Given the description of an element on the screen output the (x, y) to click on. 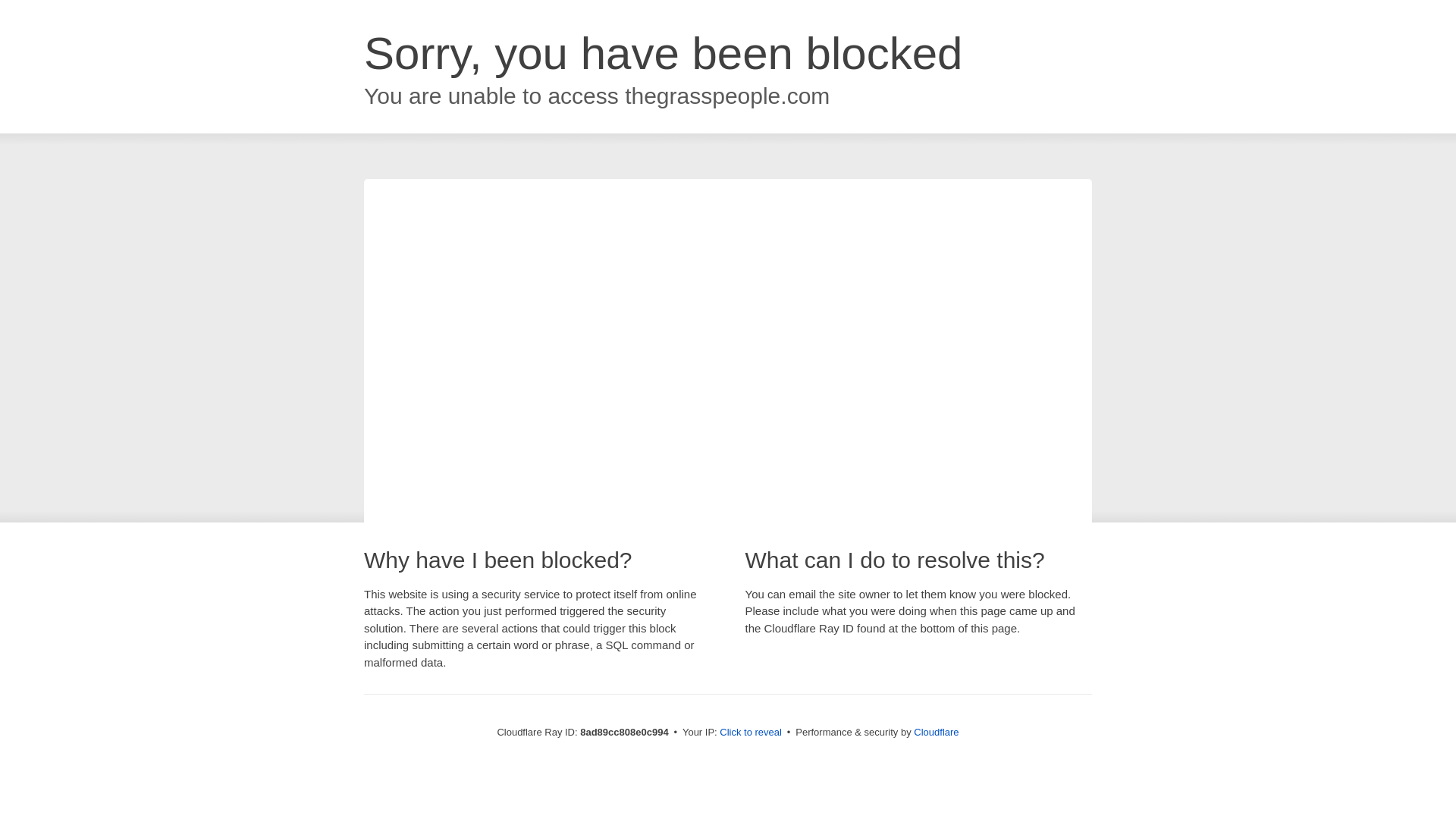
Cloudflare (936, 731)
Click to reveal (750, 732)
